Given the description of an element on the screen output the (x, y) to click on. 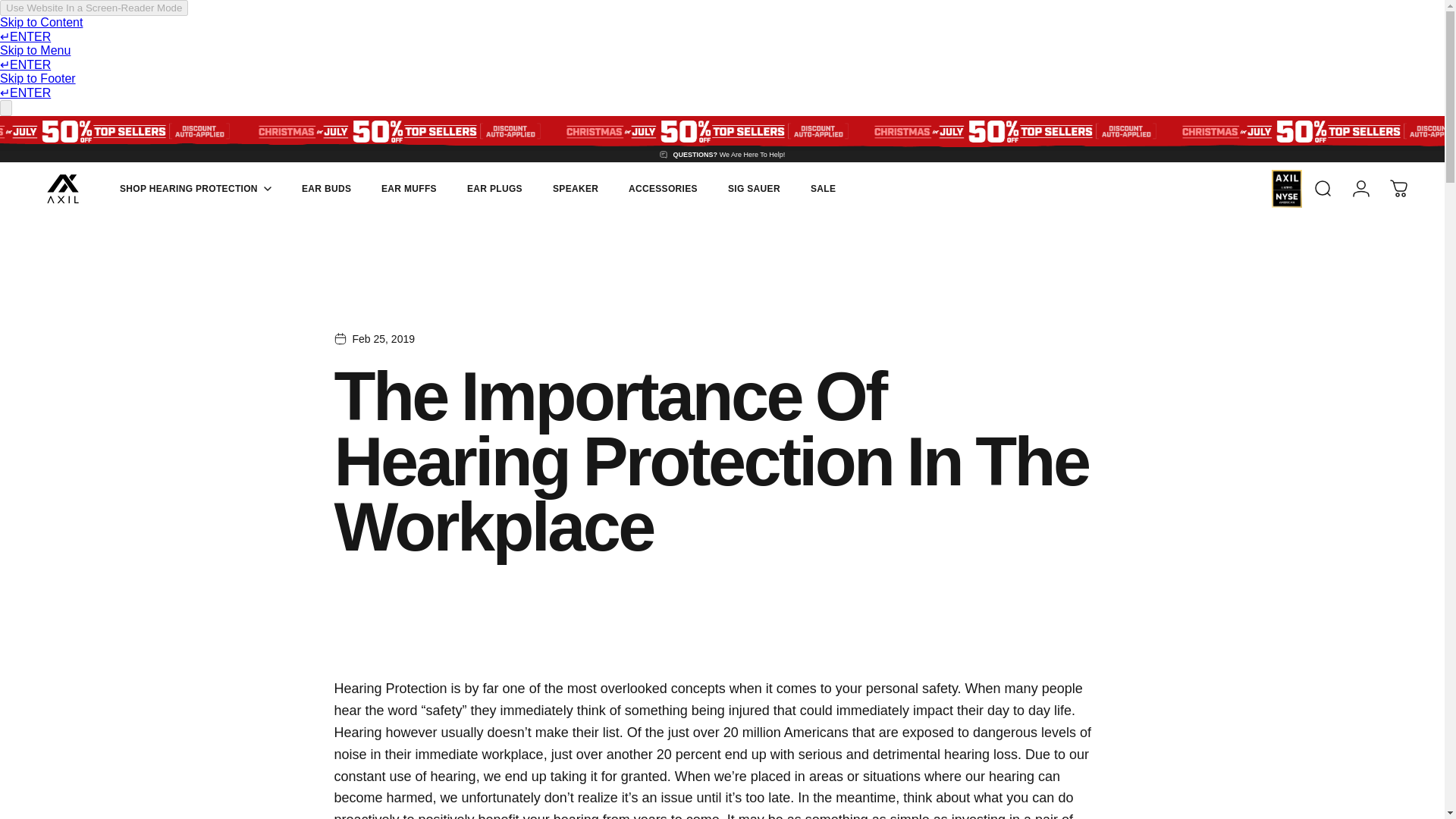
AXIL (62, 188)
SIG SAUER (754, 188)
Search (1322, 188)
QUESTIONS? We Are Here To Help! (722, 154)
EAR PLUGS (494, 188)
EAR BUDS (325, 188)
ACCESSORIES (662, 188)
SPEAKER (575, 188)
EAR MUFFS (408, 188)
